Given the description of an element on the screen output the (x, y) to click on. 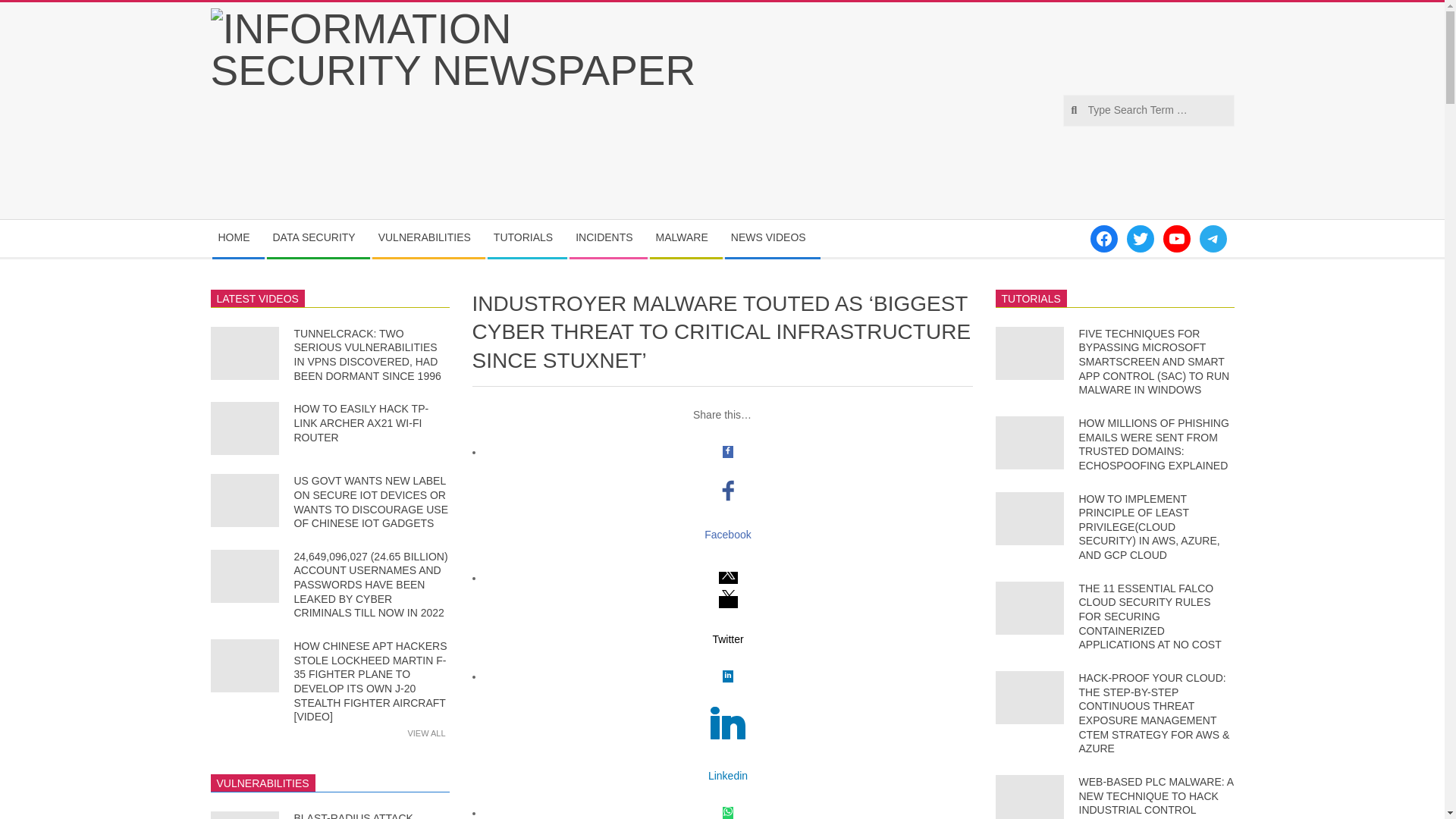
HOME (237, 238)
VULNERABILITIES (428, 238)
Twitter (727, 638)
TUTORIALS (526, 238)
Linkedin (727, 775)
Facebook (727, 534)
DATA SECURITY (317, 238)
